Given the description of an element on the screen output the (x, y) to click on. 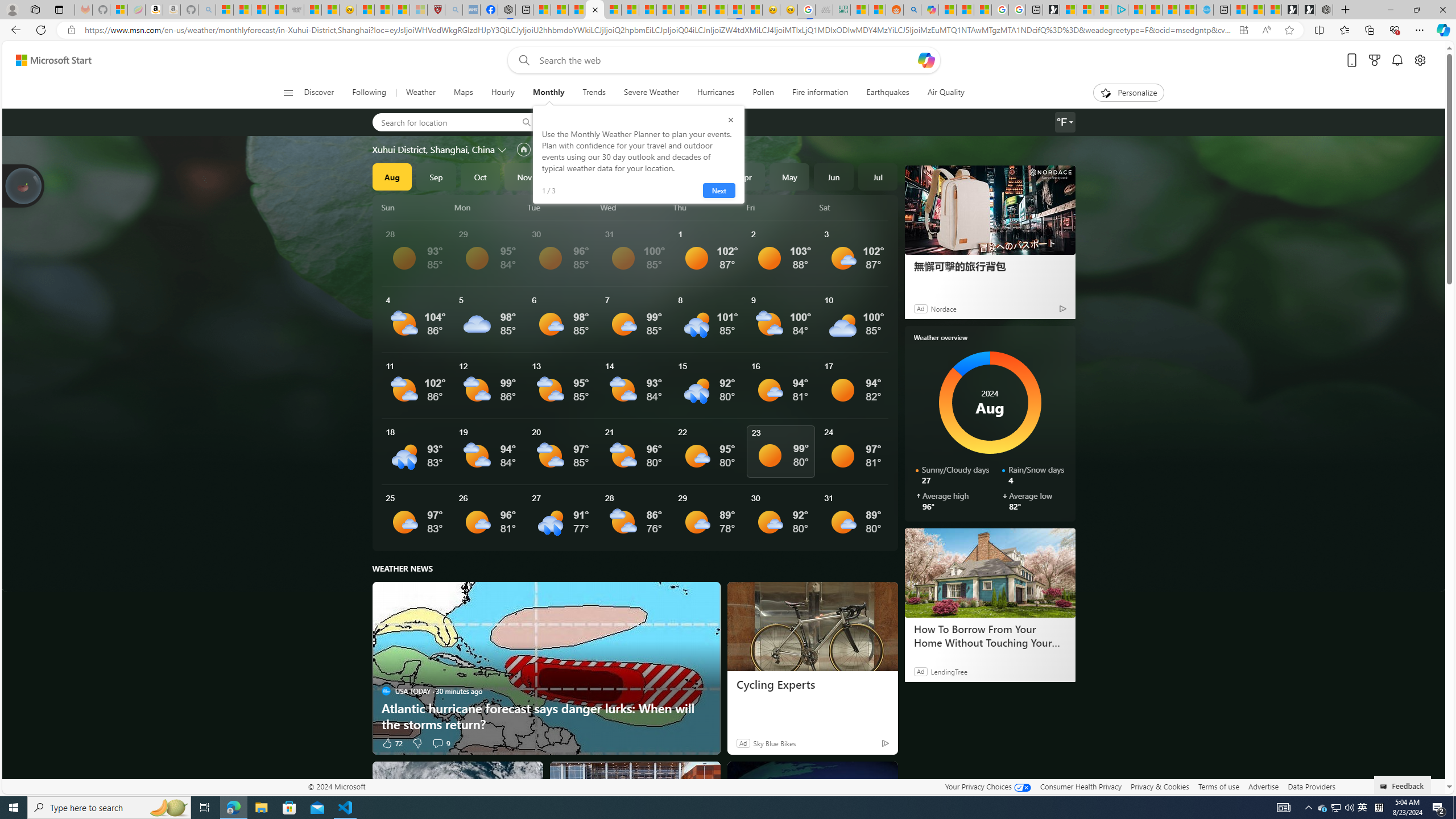
Weather settings (1064, 122)
App available. Install Microsoft Start Weather (1243, 29)
Dec (568, 176)
Sep (435, 176)
Trends (593, 92)
Jun (833, 176)
Pollen (763, 92)
